Given the description of an element on the screen output the (x, y) to click on. 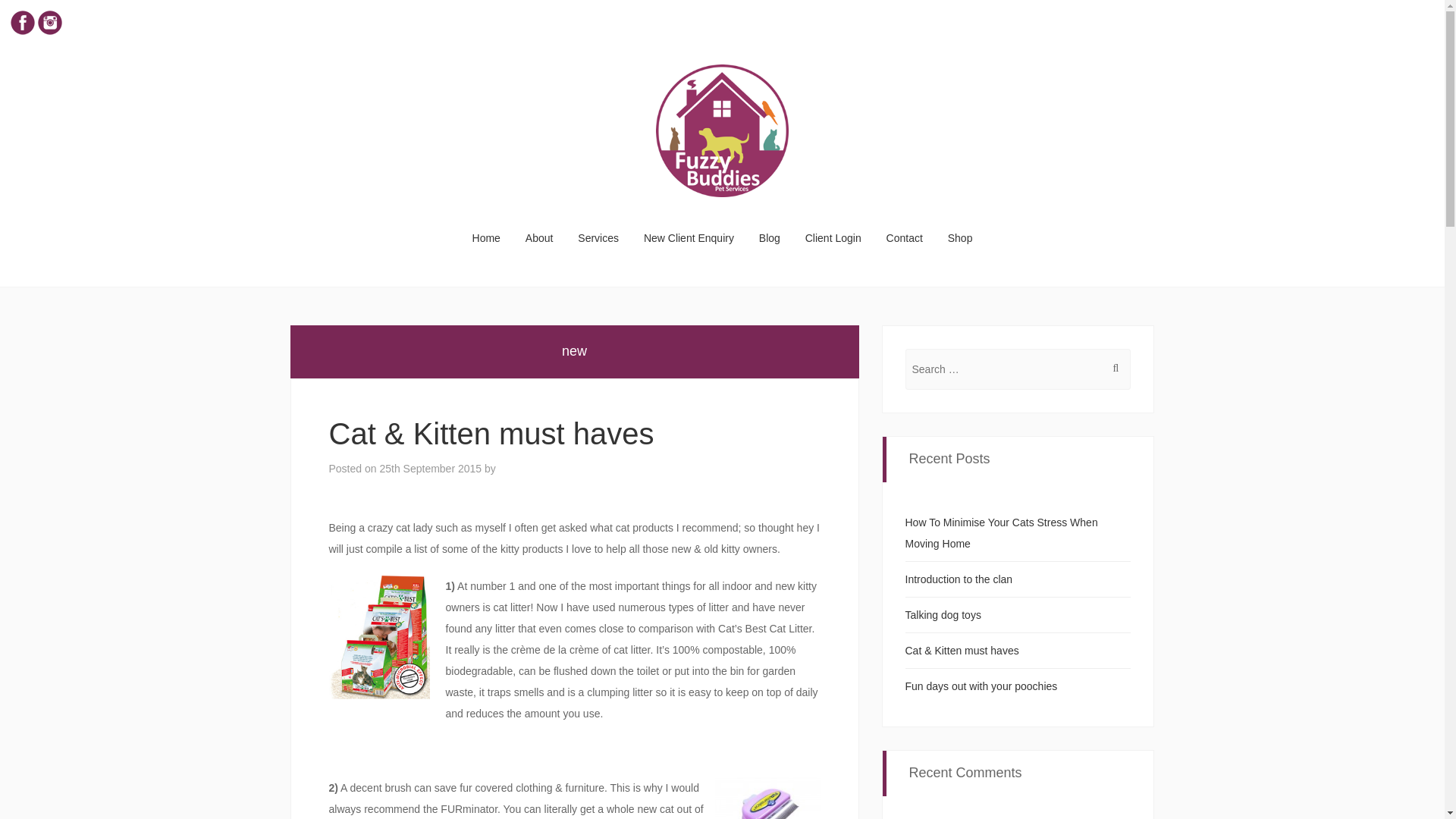
25th September 2015 (429, 468)
Blog (770, 237)
New Client Enquiry (689, 237)
Fuzzy Buddies (722, 127)
Contact (905, 237)
Home (486, 237)
Shop (960, 237)
Services (598, 237)
Client Login (833, 237)
